Given the description of an element on the screen output the (x, y) to click on. 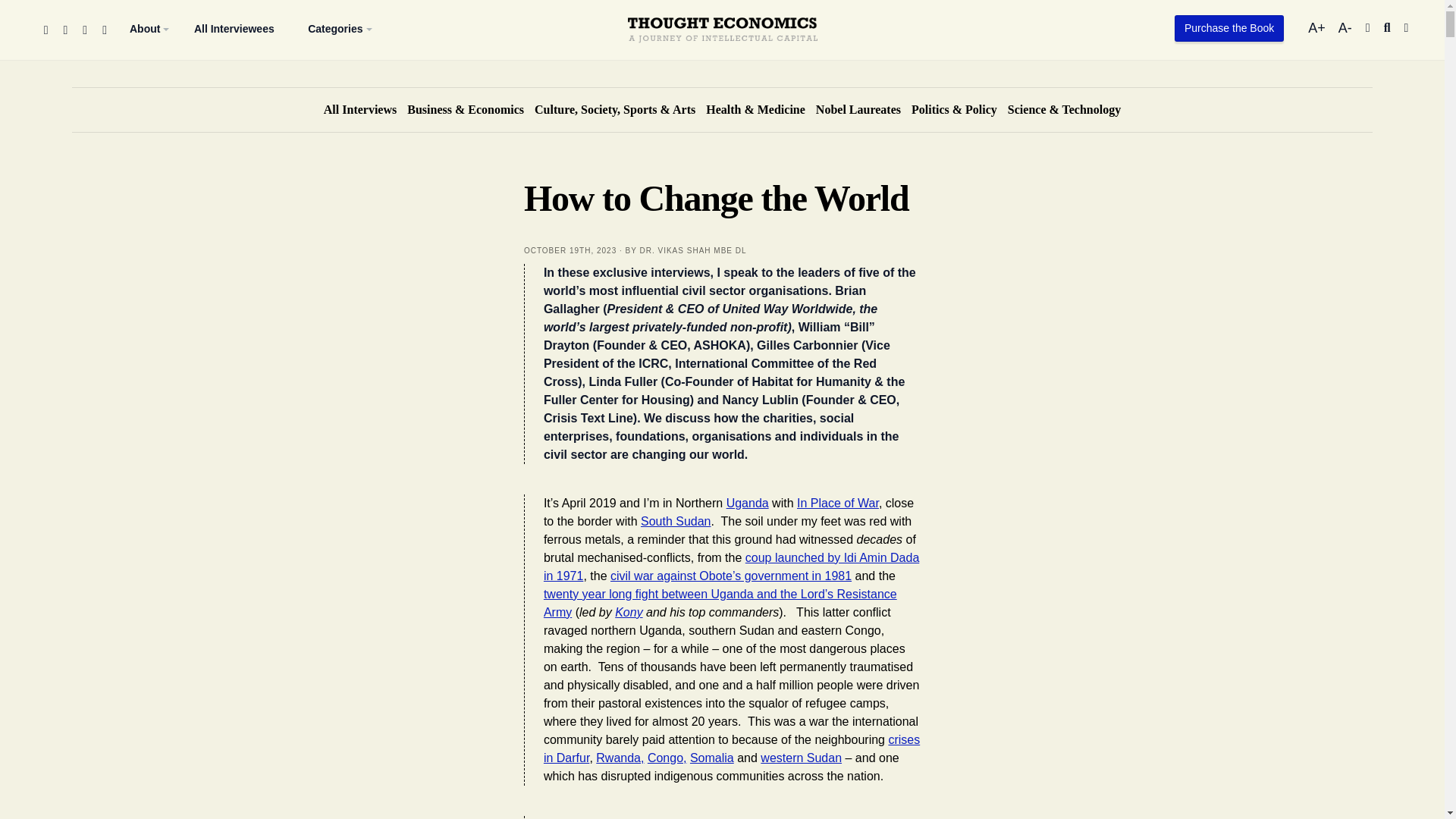
linkedin (103, 30)
Thought Economics (721, 2)
coup launched by Idi Amin Dada in 1971 (730, 566)
Open Sidebar (1407, 27)
Increase Font Size (1318, 28)
In Place of War (837, 502)
How to Change the World (569, 250)
Nobel Laureates (858, 109)
South Sudan (675, 521)
Purchase the Book (1229, 28)
Categories (334, 28)
Search (1387, 27)
Open Sidebar (1407, 27)
twitter (64, 30)
